Given the description of an element on the screen output the (x, y) to click on. 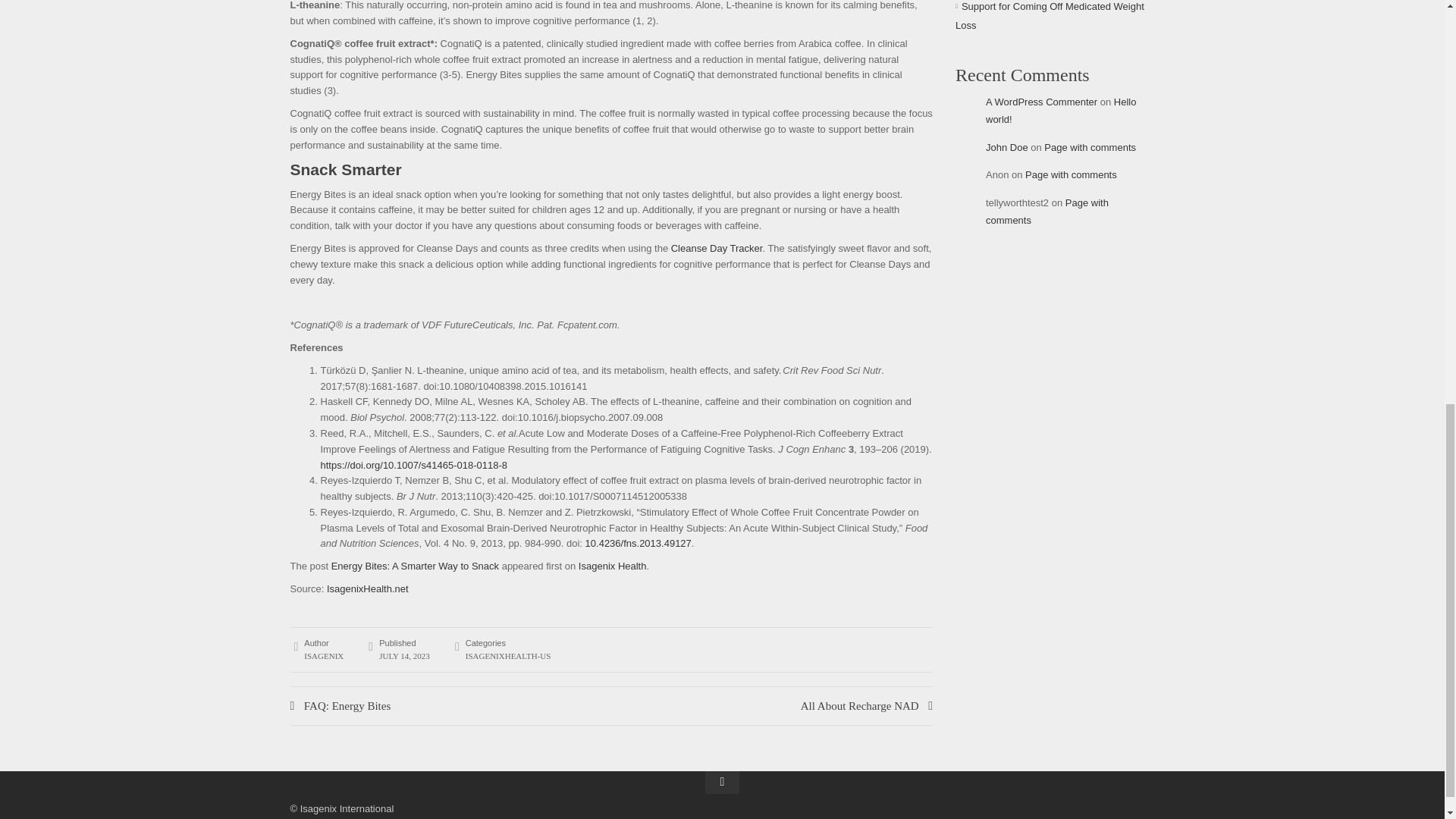
ISAGENIX (323, 655)
All About Recharge NAD  (866, 705)
All About Recharge NAD (866, 705)
FAQ: Energy Bites (450, 705)
 FAQ: Energy Bites (450, 705)
Isagenix Health (612, 565)
Posts by Isagenix (323, 655)
IsagenixHealth.net (367, 588)
Energy Bites: A Smarter Way to Snack (415, 565)
Go to top (721, 782)
Cleanse Day Tracker (716, 247)
ISAGENIXHEALTH-US (508, 655)
